Given the description of an element on the screen output the (x, y) to click on. 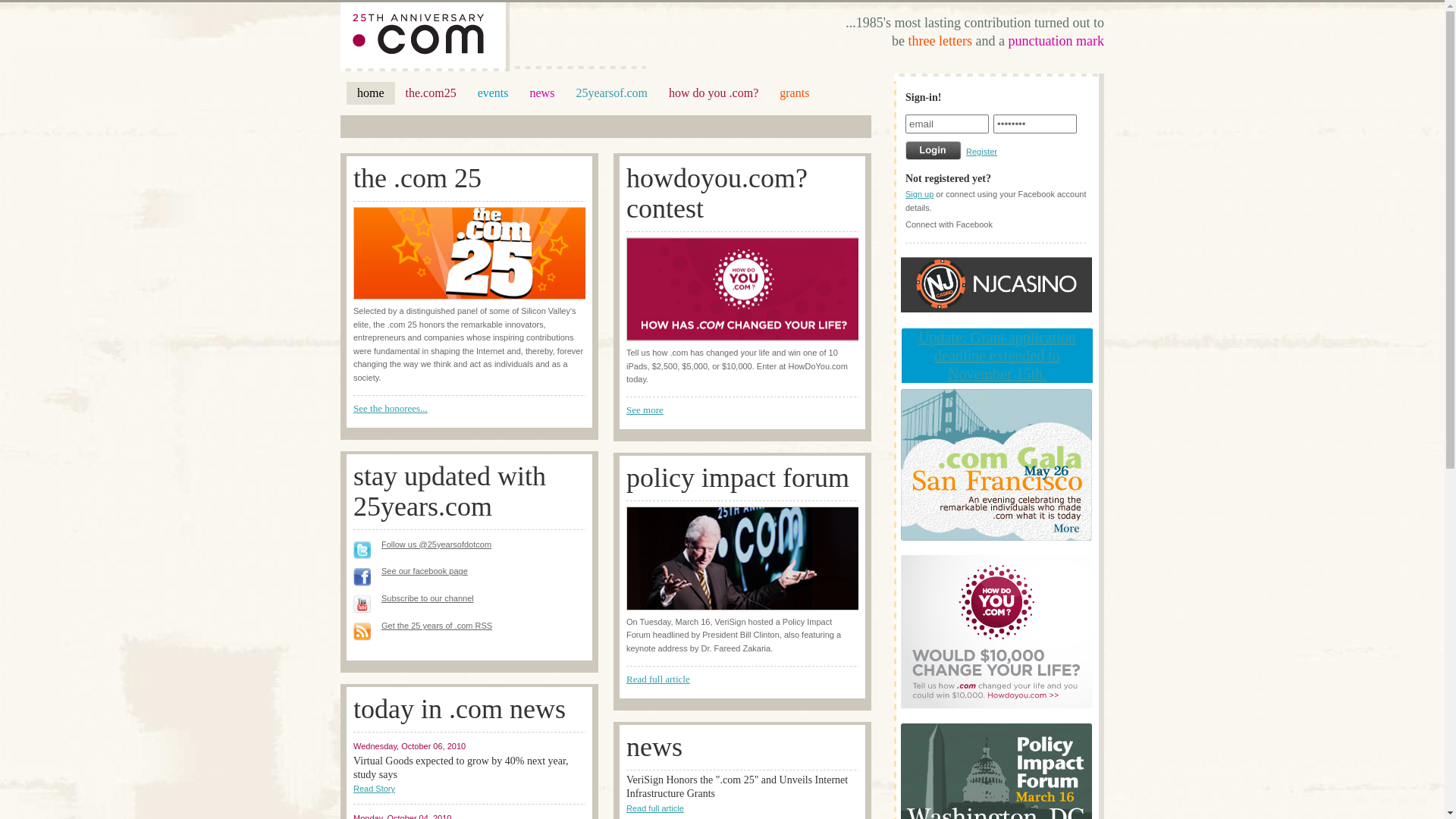
Follow us @25yearsofdotcom Element type: text (436, 544)
home Element type: text (370, 92)
See more Element type: text (644, 409)
how do you .com? Element type: text (713, 92)
See our facebook page Element type: text (424, 570)
Read Story Element type: text (374, 788)
